Given the description of an element on the screen output the (x, y) to click on. 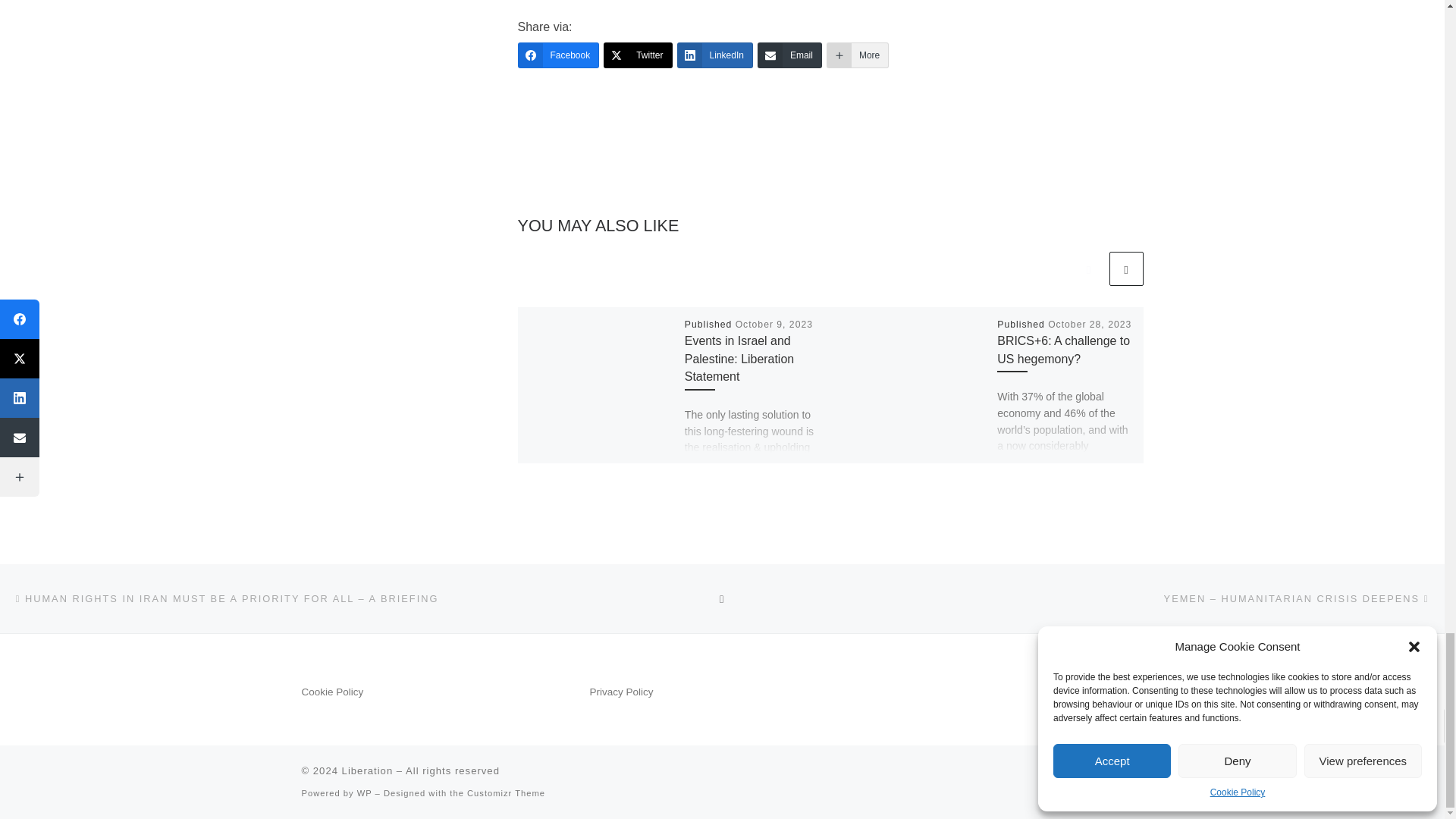
Next related articles (1125, 268)
Powered by WordPress (364, 792)
Previous related articles (1088, 268)
Liberation (367, 770)
Customizr Theme (505, 792)
